Given the description of an element on the screen output the (x, y) to click on. 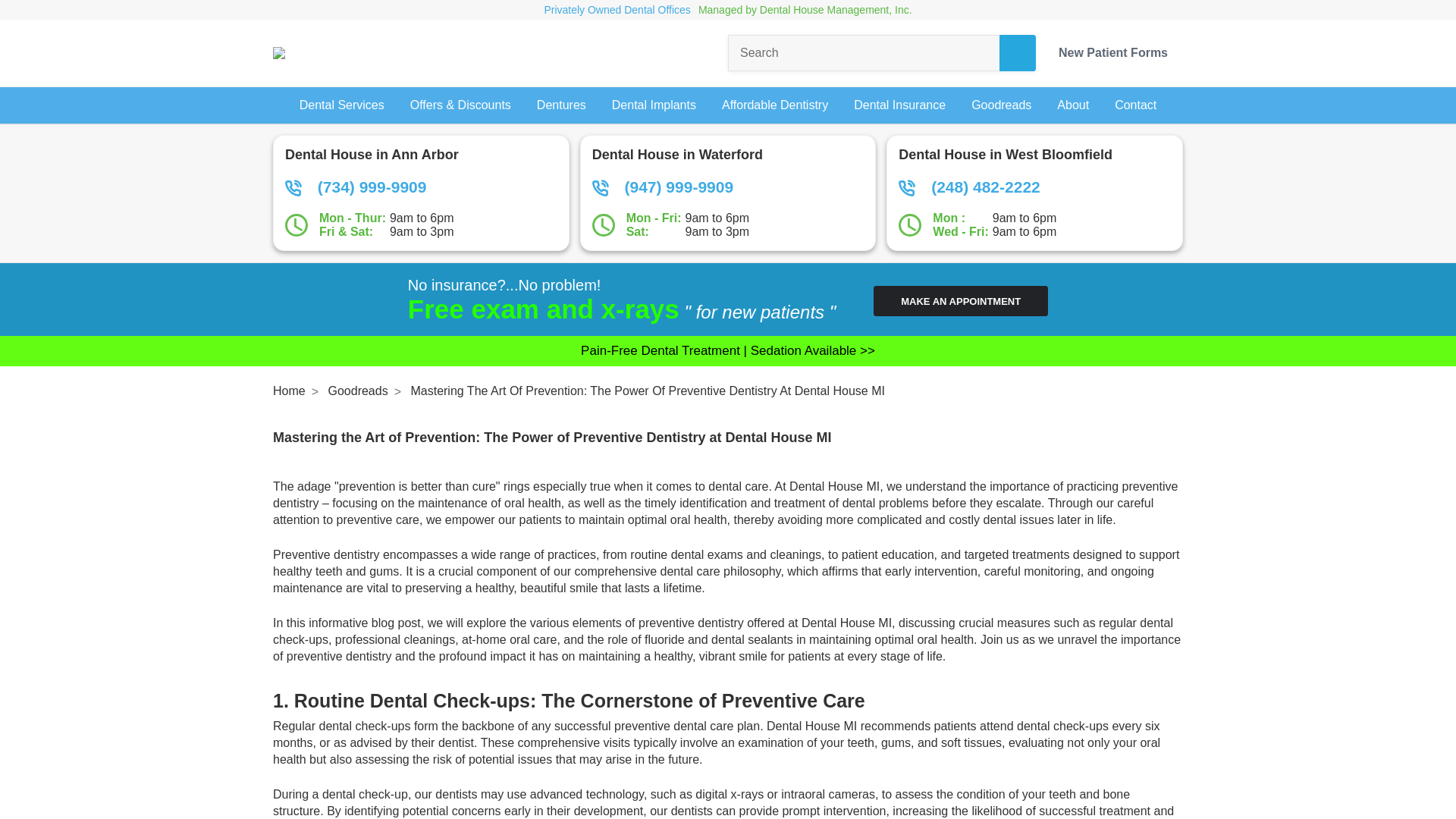
Call Dentist Office Phone Number in  West Bloomfield (1034, 187)
Call Dentist Office Phone Number in Ann Arbor (421, 187)
Call Dentist Office Phone Number in  Waterford (728, 187)
